Given the description of an element on the screen output the (x, y) to click on. 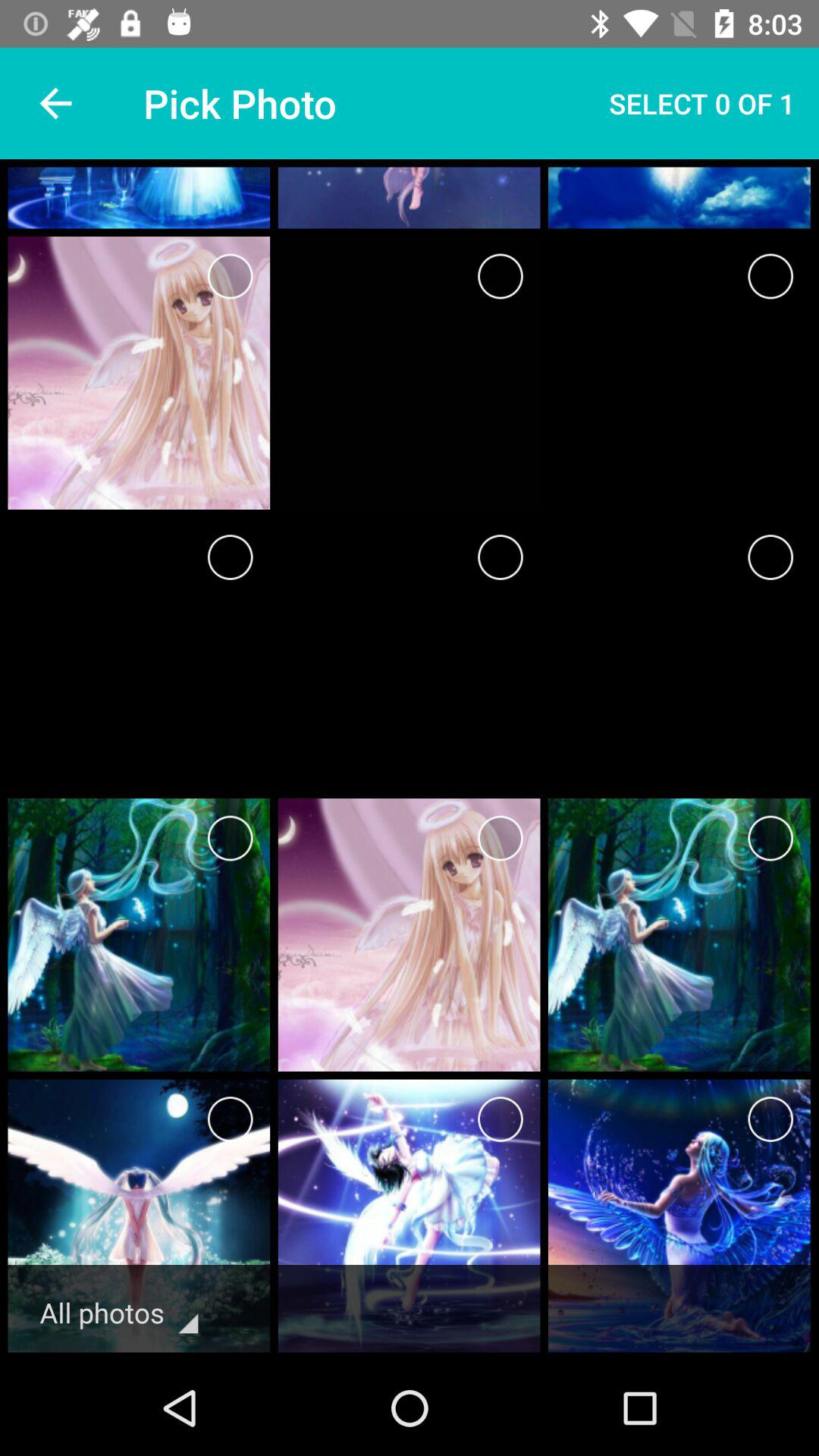
select photo (230, 276)
